Given the description of an element on the screen output the (x, y) to click on. 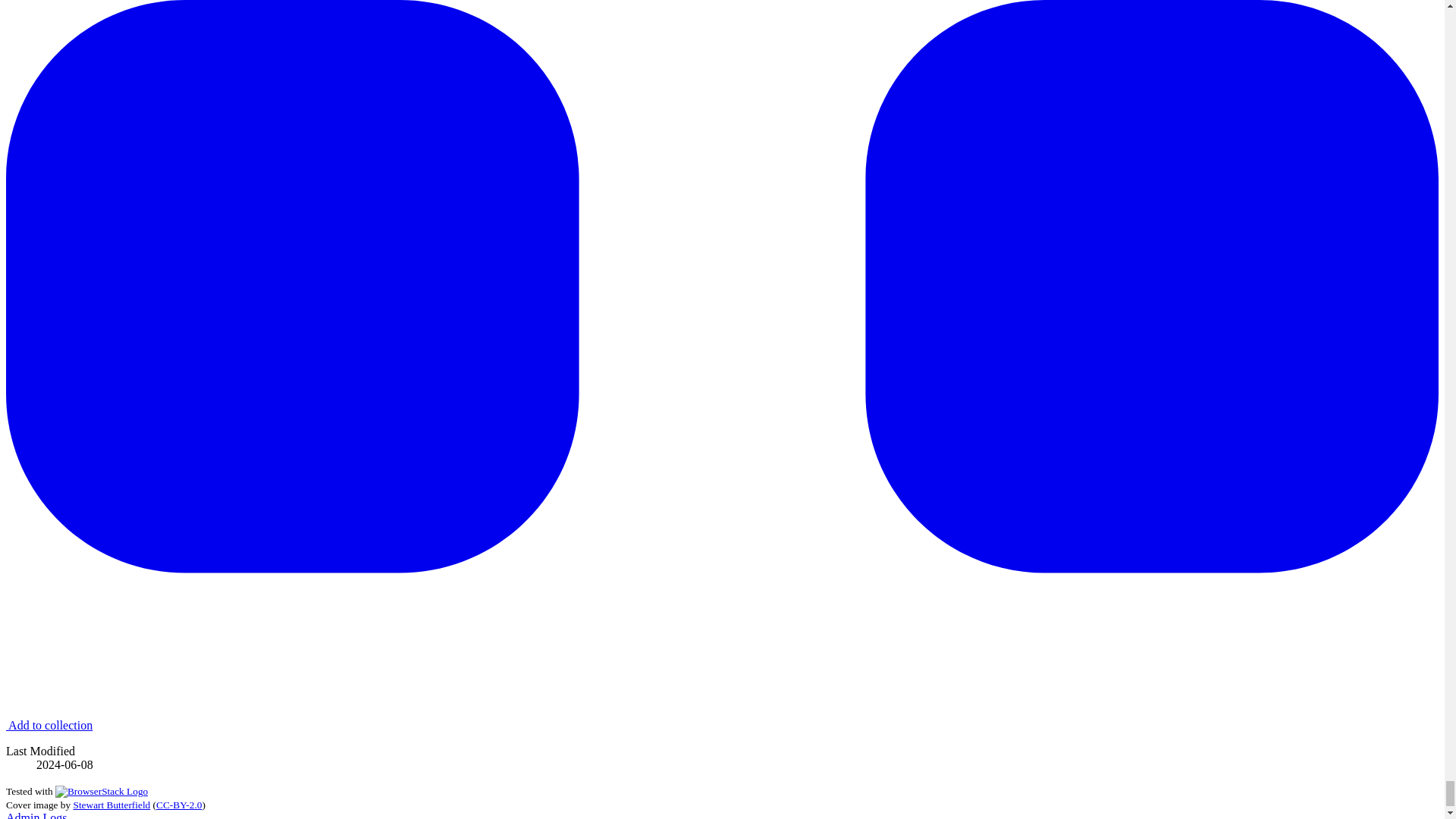
CC-BY-2.0 (178, 804)
Admin Logs (35, 815)
Stewart Butterfield (110, 804)
